Given the description of an element on the screen output the (x, y) to click on. 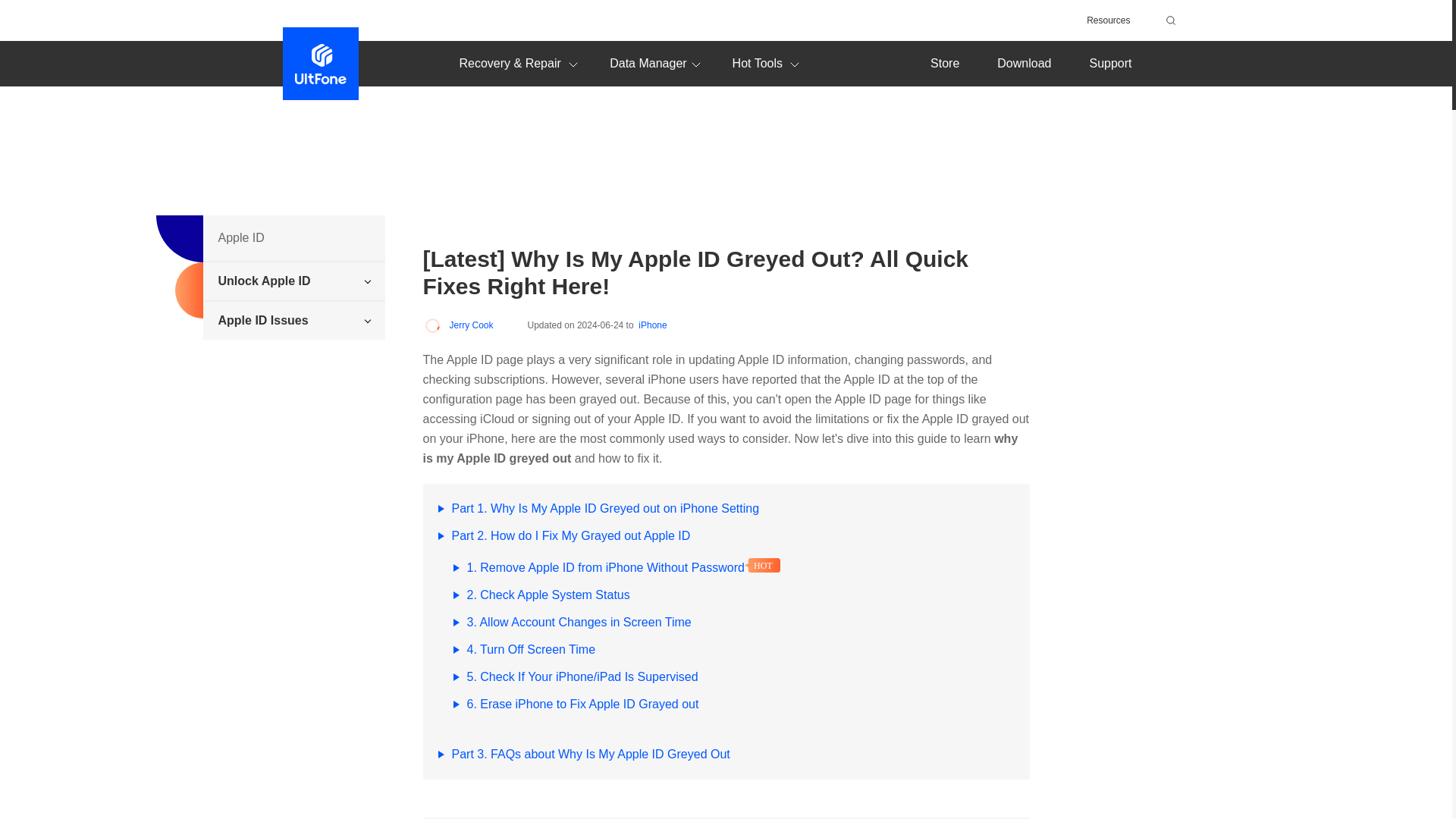
submit button (1167, 20)
Download (1024, 62)
Store (944, 62)
Resources (1107, 20)
Jerry Cook (458, 324)
submit button (1167, 20)
submit button (1167, 20)
HOT (762, 564)
Support (1110, 62)
